Given the description of an element on the screen output the (x, y) to click on. 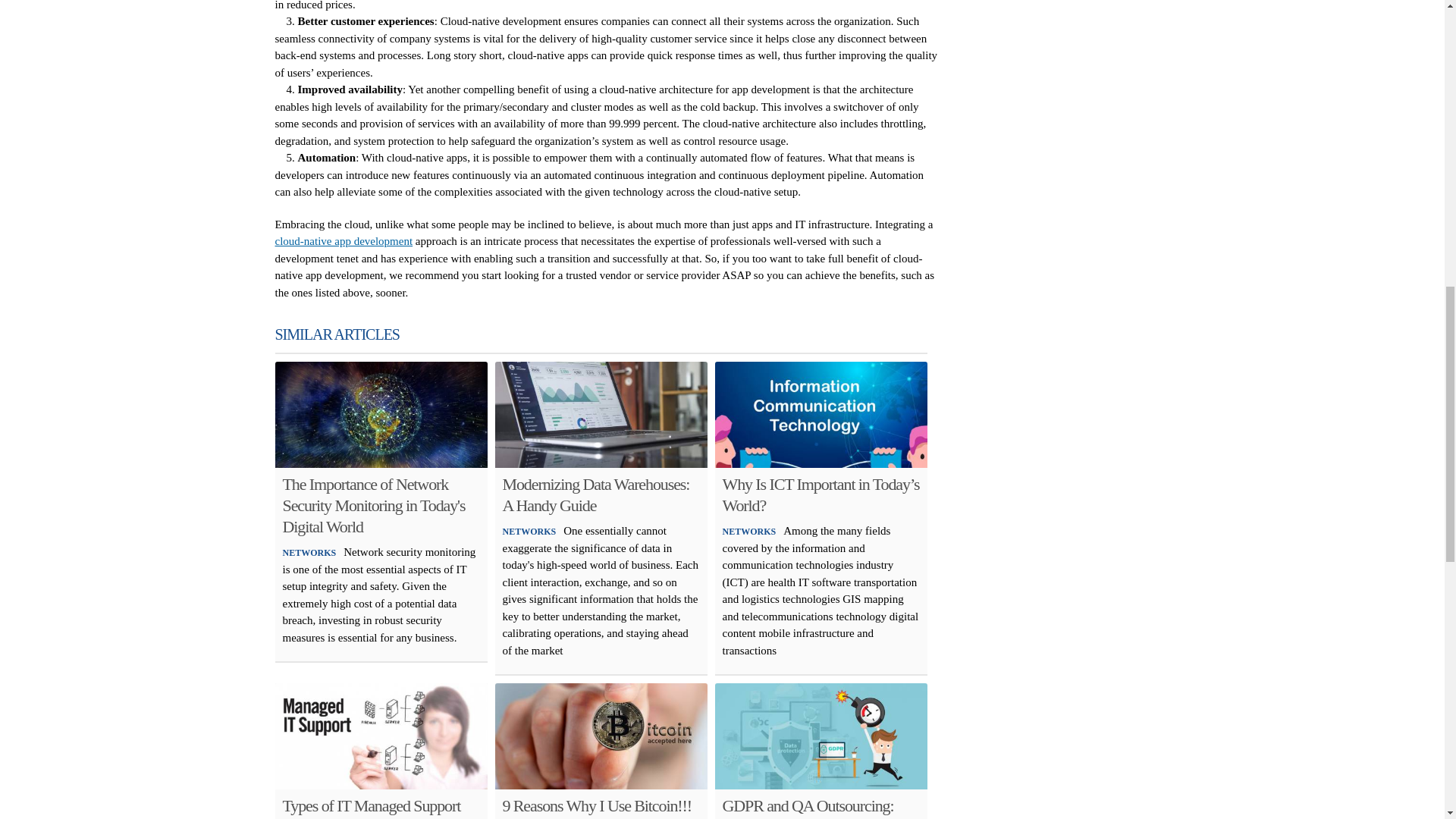
Modernizing Data Warehouses: A Handy Guide (595, 495)
NETWORKS (309, 552)
Modernizing Data Warehouses: A Handy Guide (600, 414)
cloud-native app development (343, 241)
GDPR testing services (820, 736)
Why is ICT important in today's world? (820, 414)
GDPR and QA Outsourcing: How to Get it Right? (807, 807)
9 Reasons Why I Use Bitcoin!!! (596, 805)
